Given the description of an element on the screen output the (x, y) to click on. 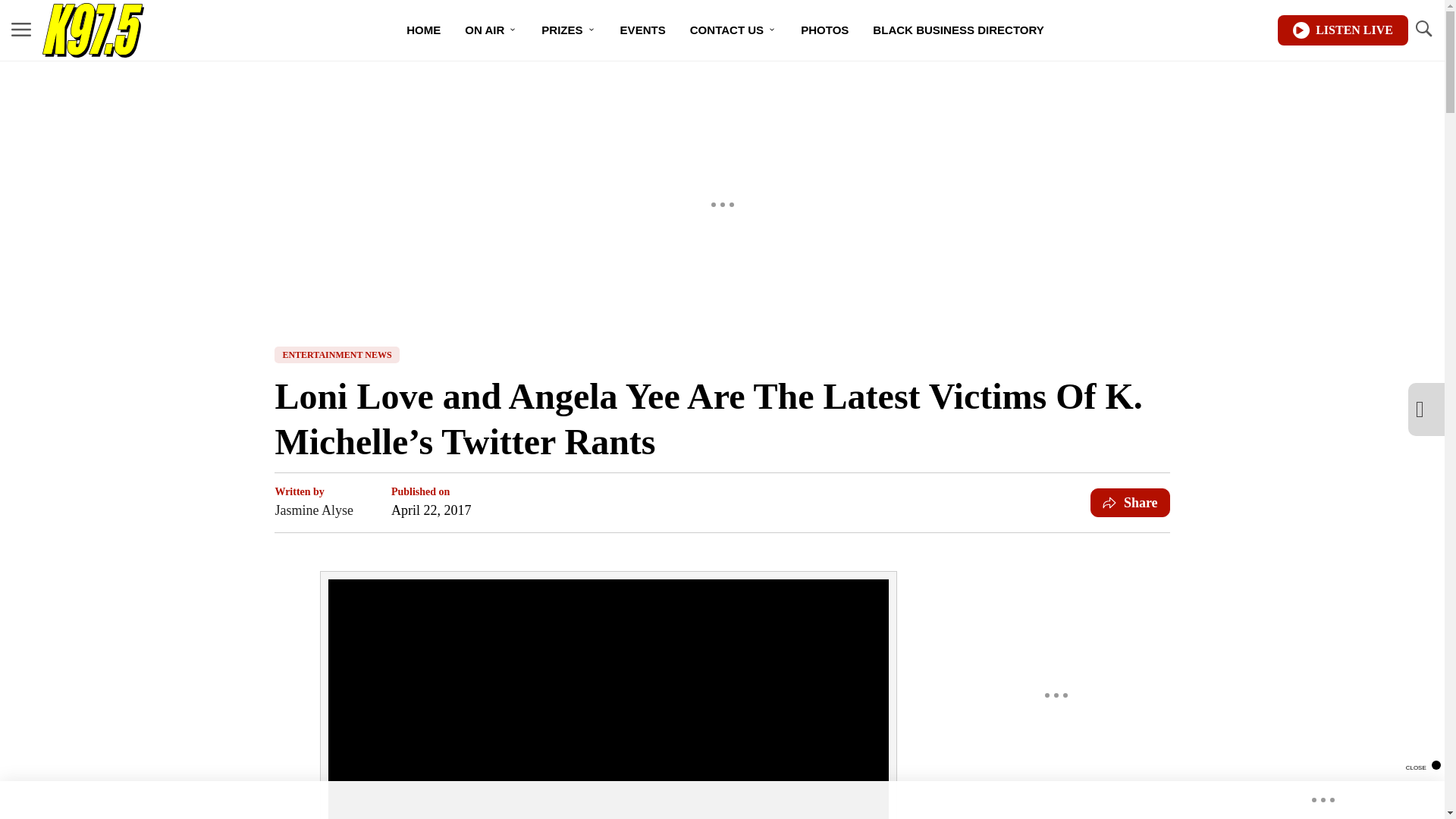
PRIZES (568, 30)
BLACK BUSINESS DIRECTORY (958, 30)
TOGGLE SEARCH (1422, 28)
CONTACT US (733, 30)
Jasmine Alyse (314, 509)
ENTERTAINMENT NEWS (336, 354)
TOGGLE SEARCH (1422, 30)
HOME (423, 30)
ON AIR (490, 30)
PHOTOS (824, 30)
